Given the description of an element on the screen output the (x, y) to click on. 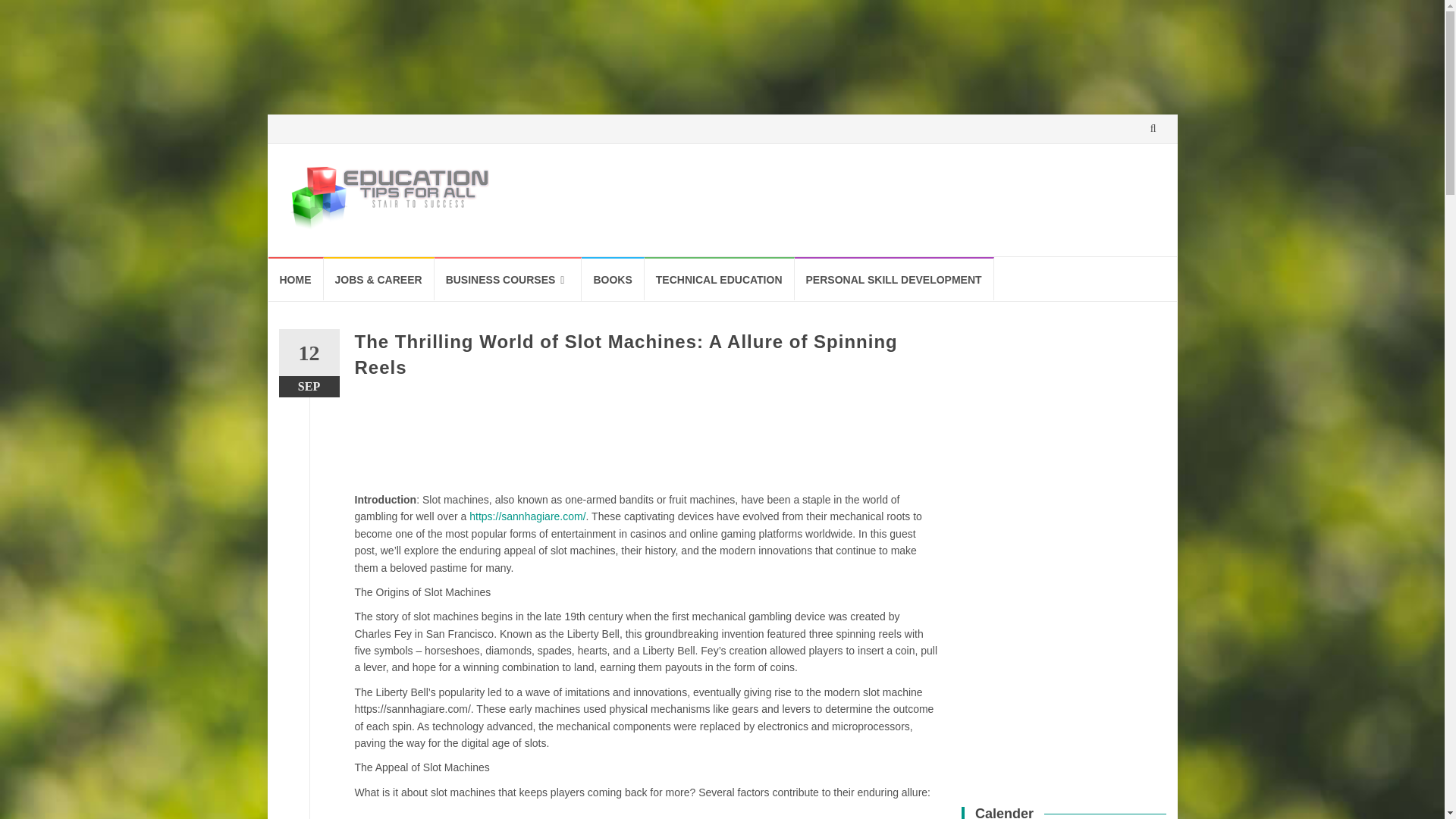
TECHNICAL EDUCATION (719, 278)
BUSINESS COURSES (507, 279)
HOME (295, 278)
Advertisement (645, 443)
PERSONAL SKILL DEVELOPMENT (894, 278)
Advertisement (647, 813)
BOOKS (611, 278)
Advertisement (265, 36)
